Given the description of an element on the screen output the (x, y) to click on. 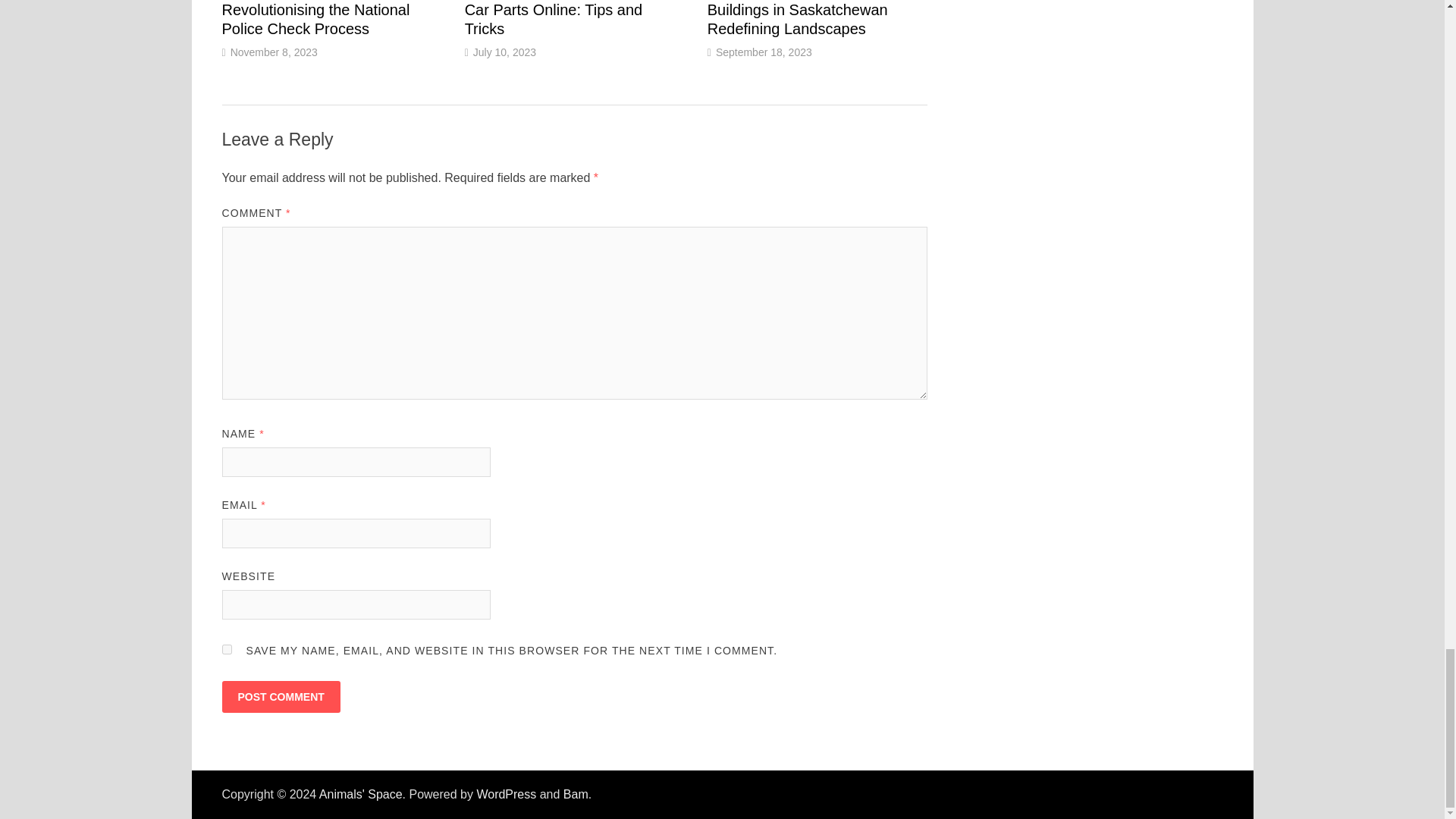
Animals' Space (360, 793)
July 10, 2023 (504, 51)
Post Comment (280, 696)
September 18, 2023 (764, 51)
yes (226, 649)
Post Comment (280, 696)
November 8, 2023 (273, 51)
